Given the description of an element on the screen output the (x, y) to click on. 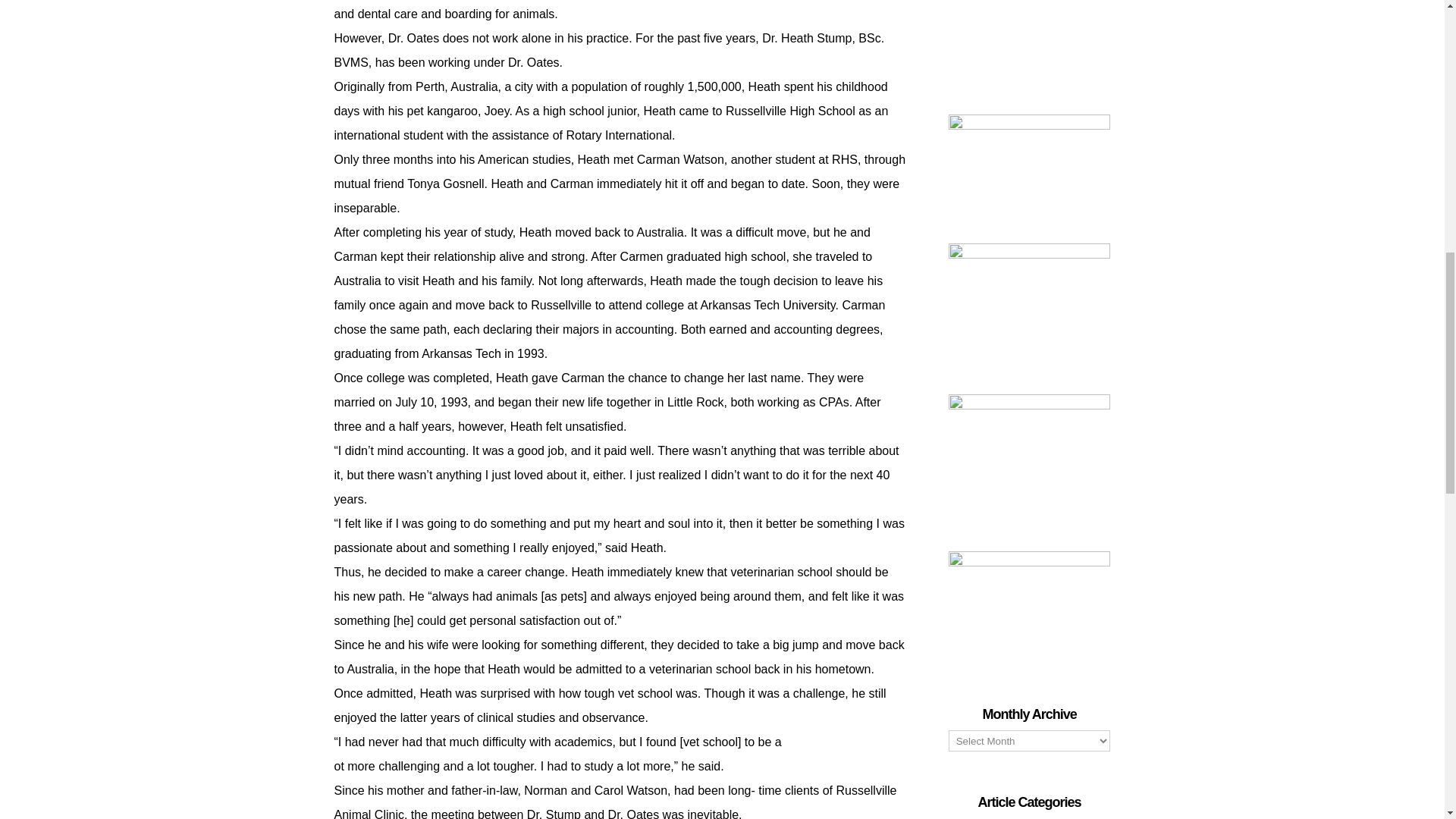
2022 About Digital Ads (1029, 46)
Page 19 (619, 786)
